Given the description of an element on the screen output the (x, y) to click on. 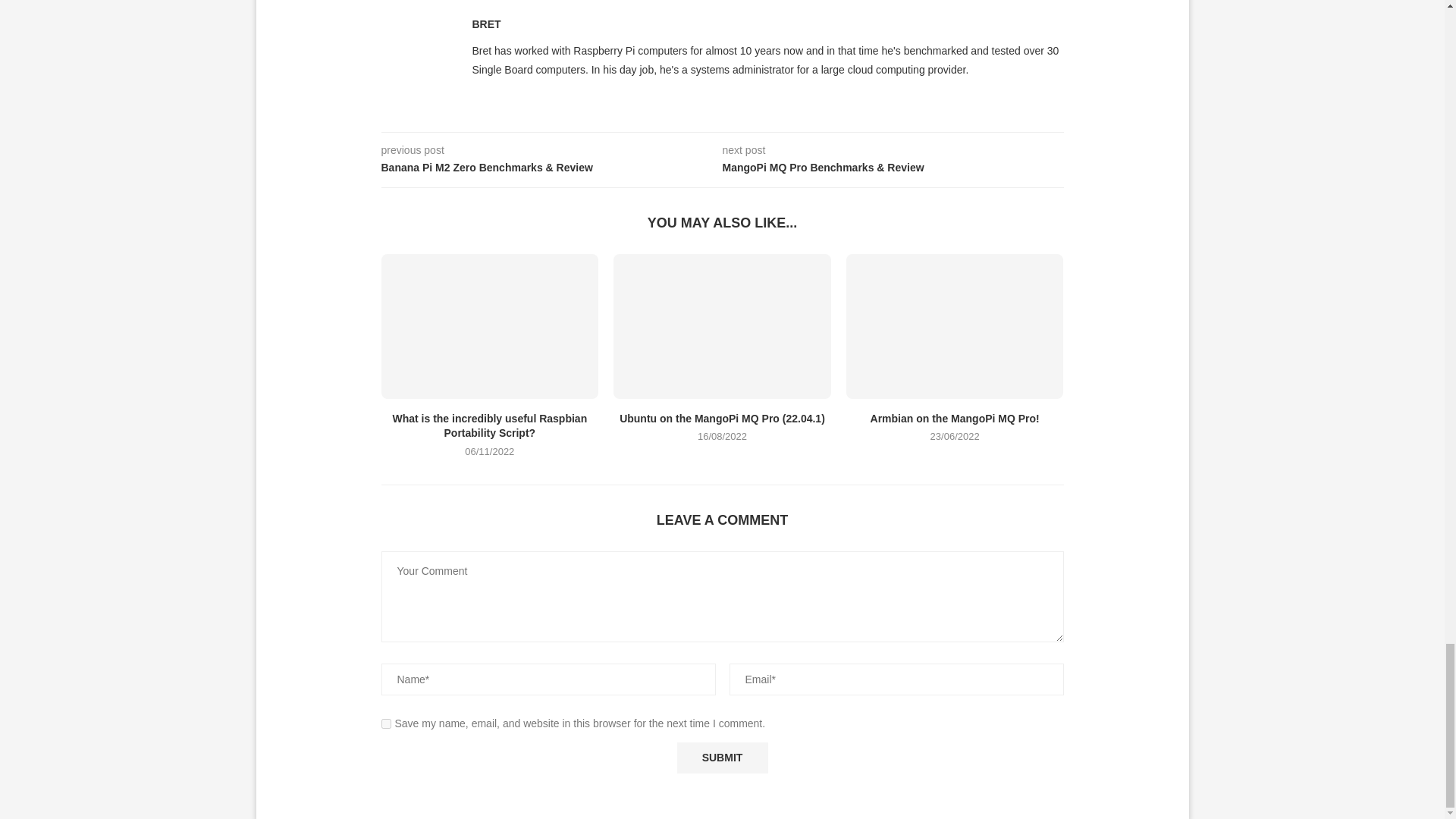
Submit (722, 757)
yes (385, 723)
